Given the description of an element on the screen output the (x, y) to click on. 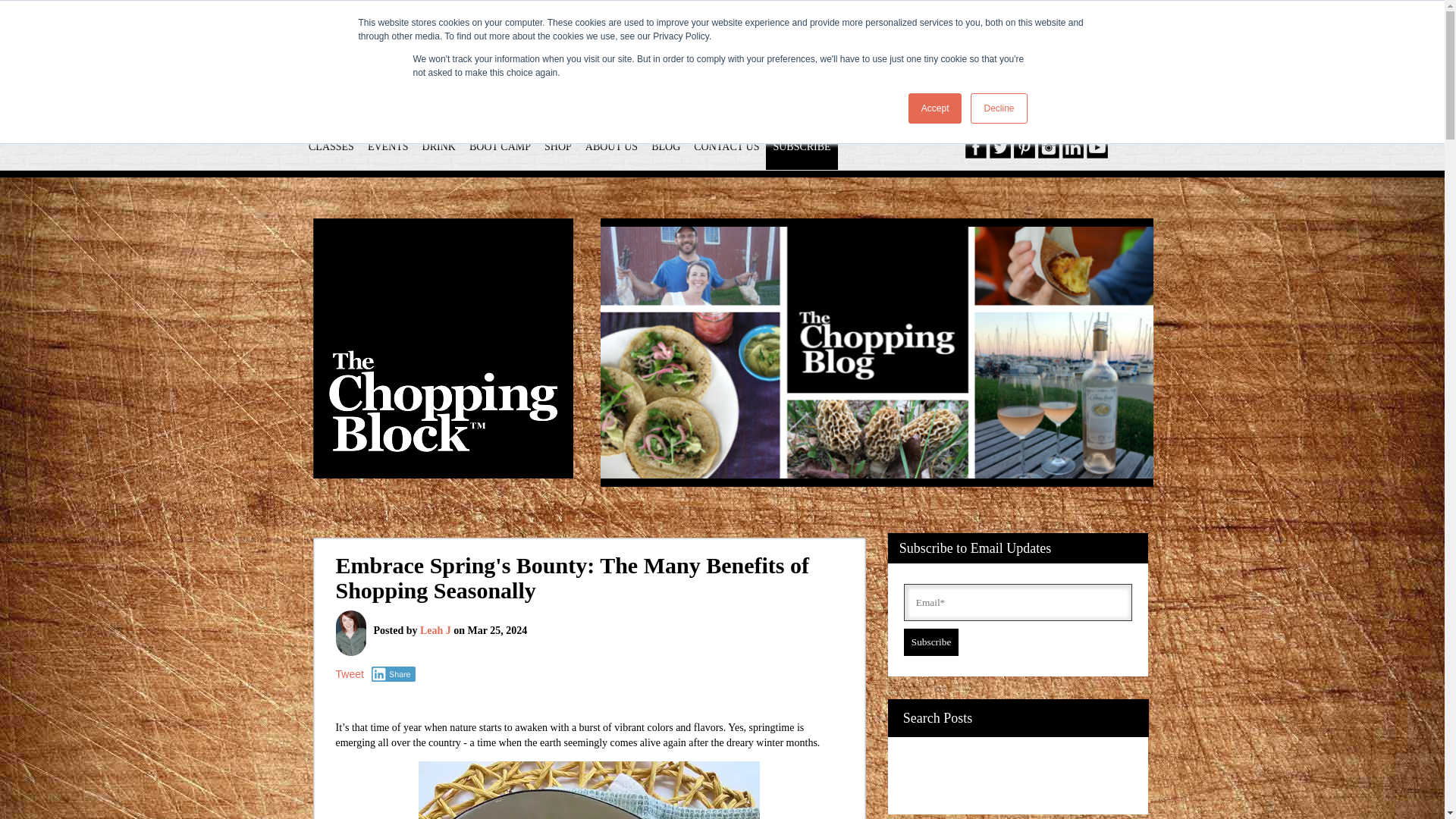
Accept (935, 108)
Instagram (1048, 147)
Decline (998, 108)
Subscribe (931, 642)
YouTube (1097, 147)
ABOUT US (611, 145)
Pinterest (1024, 147)
CLASSES (331, 145)
Twitter (1000, 147)
Facebook (976, 147)
DRINK (438, 145)
LinkedIn (1072, 147)
EVENTS (387, 145)
